Given the description of an element on the screen output the (x, y) to click on. 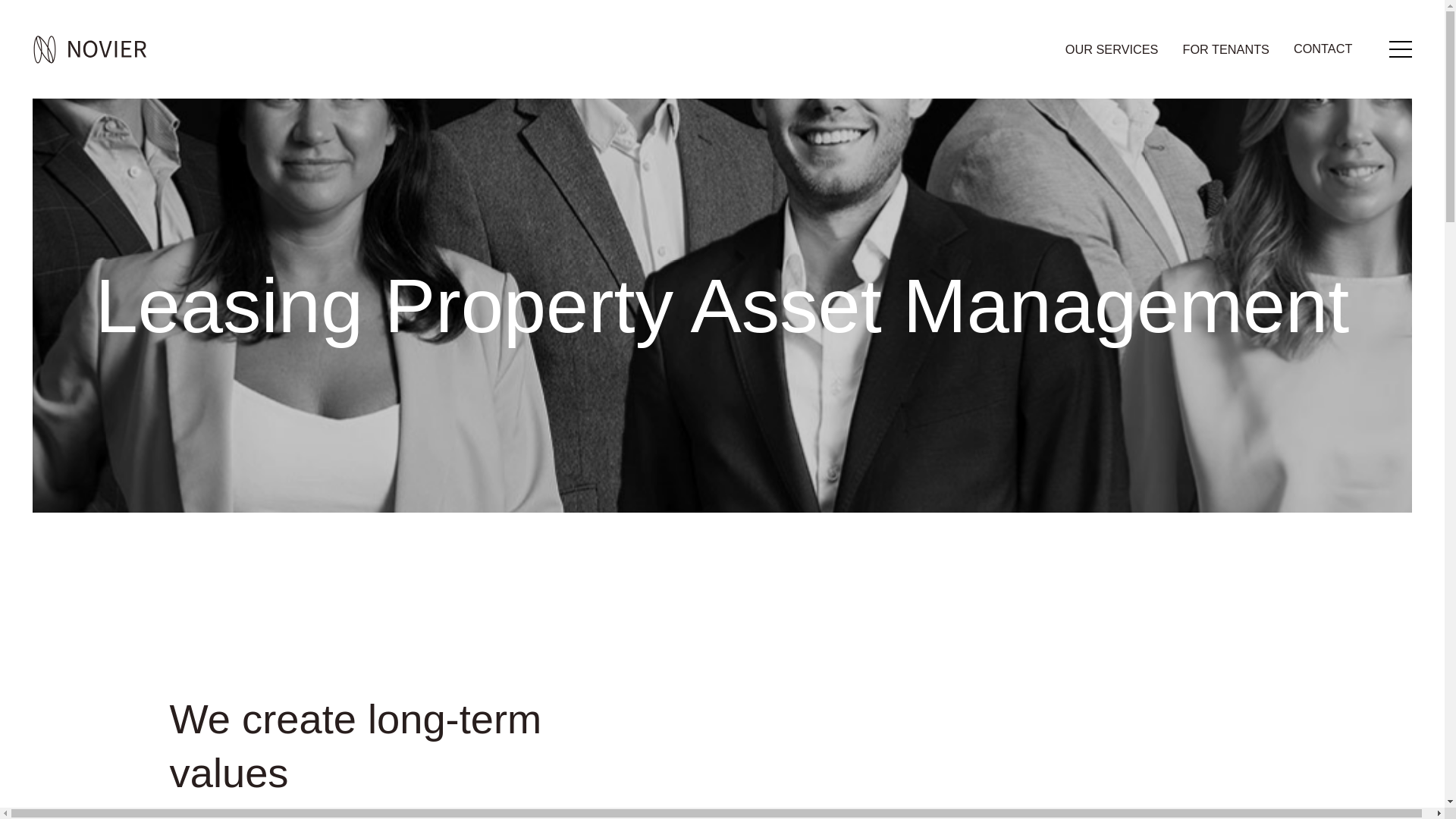
OUR SERVICES (1111, 49)
OUR SERVICES (1111, 49)
CONTACT (1323, 48)
FOR TENANTS (1225, 49)
